Given the description of an element on the screen output the (x, y) to click on. 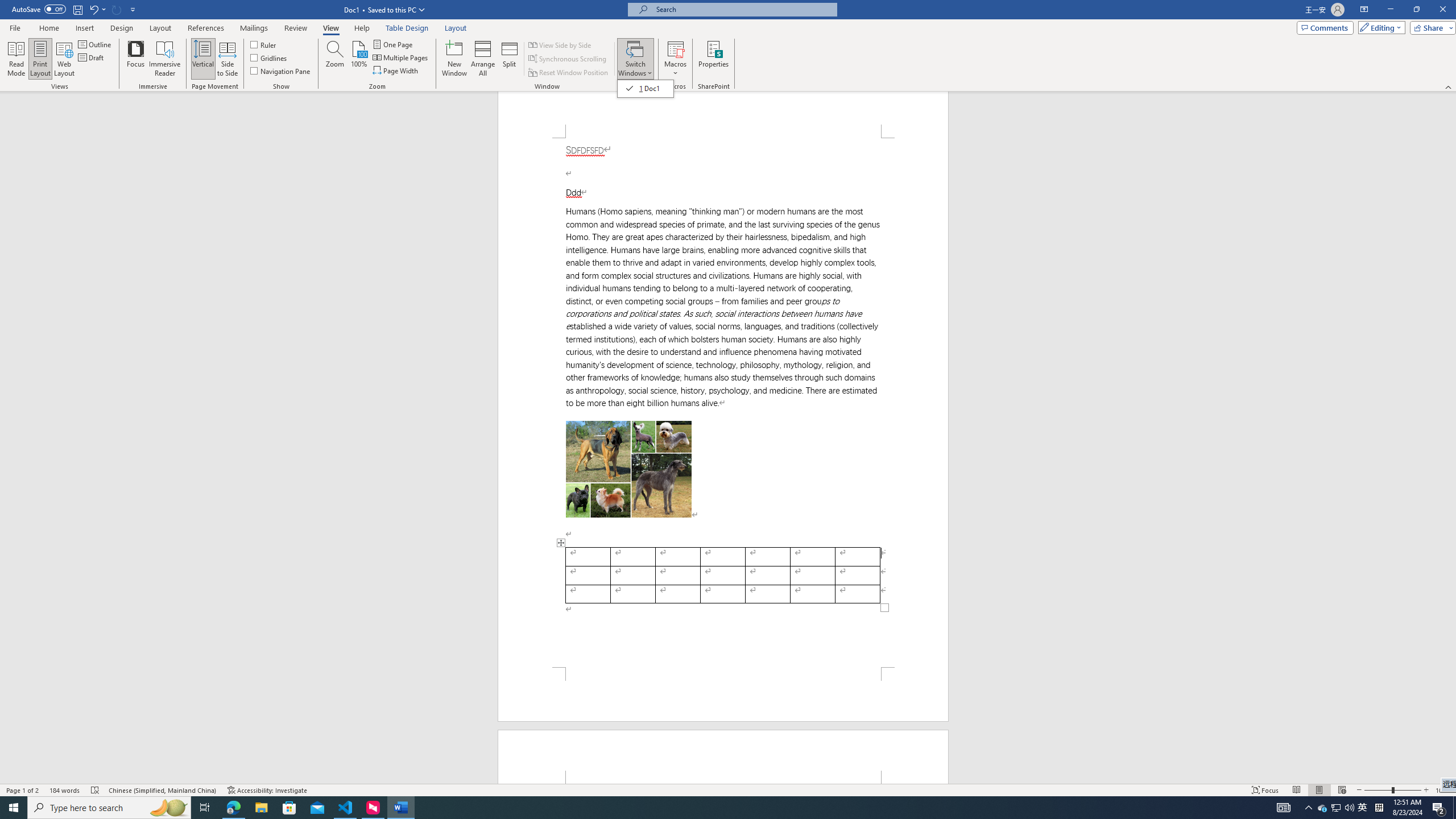
View Side by Side (561, 44)
Side to Side (226, 58)
One Page (393, 44)
Gridlines (269, 56)
View Macros (675, 48)
Multiple Pages (400, 56)
Action Center, 2 new notifications (1439, 807)
Editing (1379, 27)
Focus  (1265, 790)
Undo Apply Quick Style Set (92, 9)
Zoom In (1362, 807)
Minimize (1426, 790)
